Given the description of an element on the screen output the (x, y) to click on. 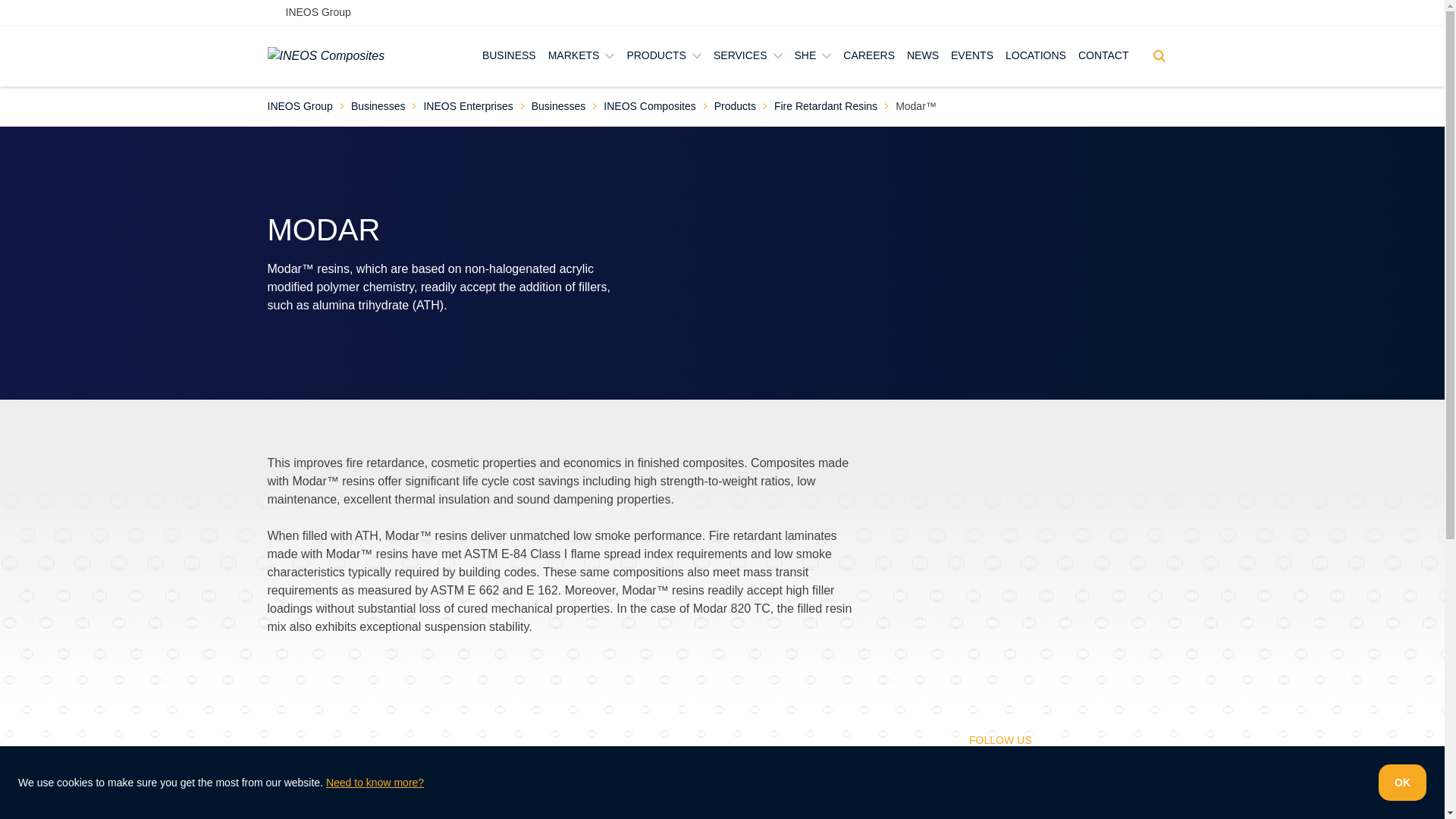
EVENTS (971, 55)
NEWS (923, 55)
MARKETS (581, 55)
SERVICES (748, 55)
INEOS Group (308, 12)
SHE (812, 55)
CAREERS (869, 55)
BUSINESS (508, 55)
PRODUCTS (663, 55)
